Given the description of an element on the screen output the (x, y) to click on. 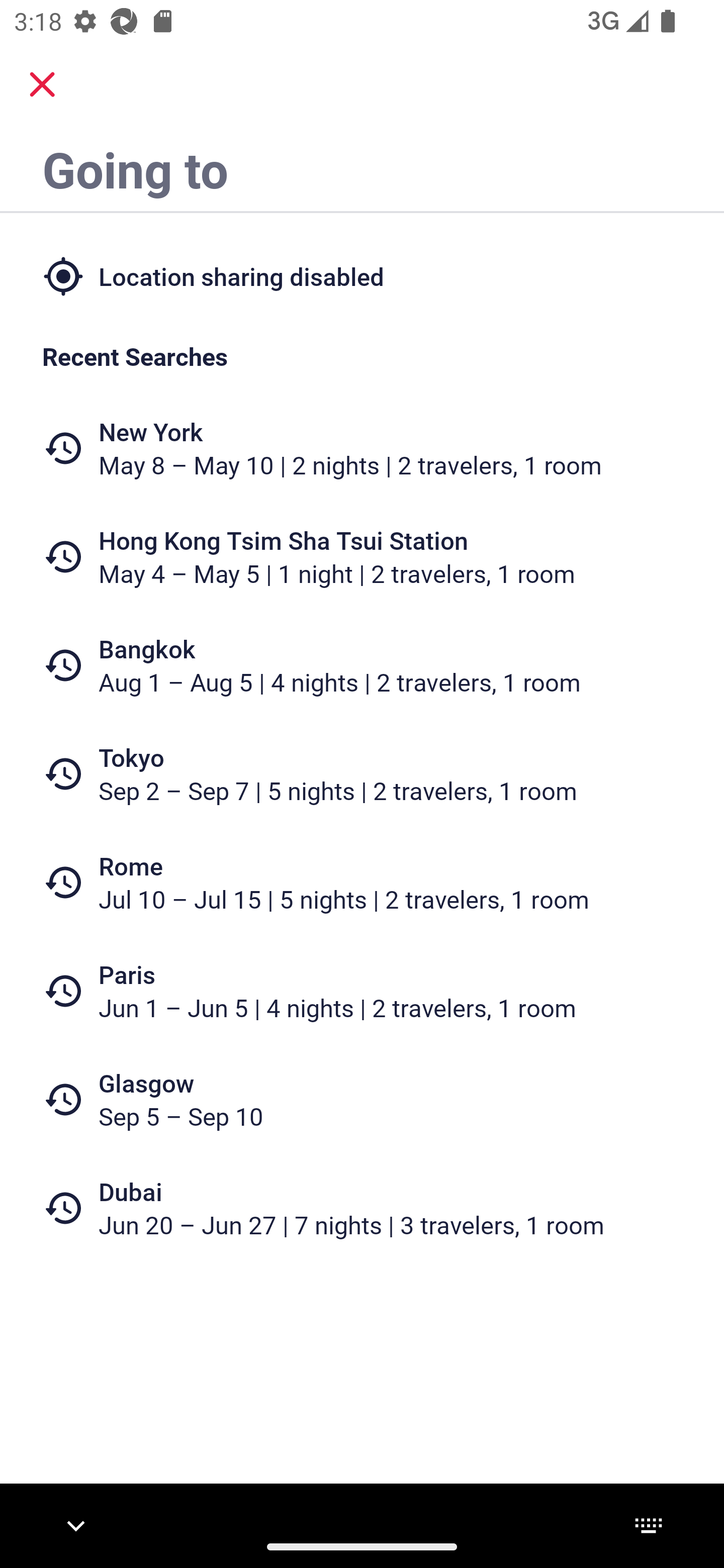
close. (42, 84)
Location sharing disabled (362, 275)
Glasgow Sep 5 – Sep 10 (362, 1099)
